Given the description of an element on the screen output the (x, y) to click on. 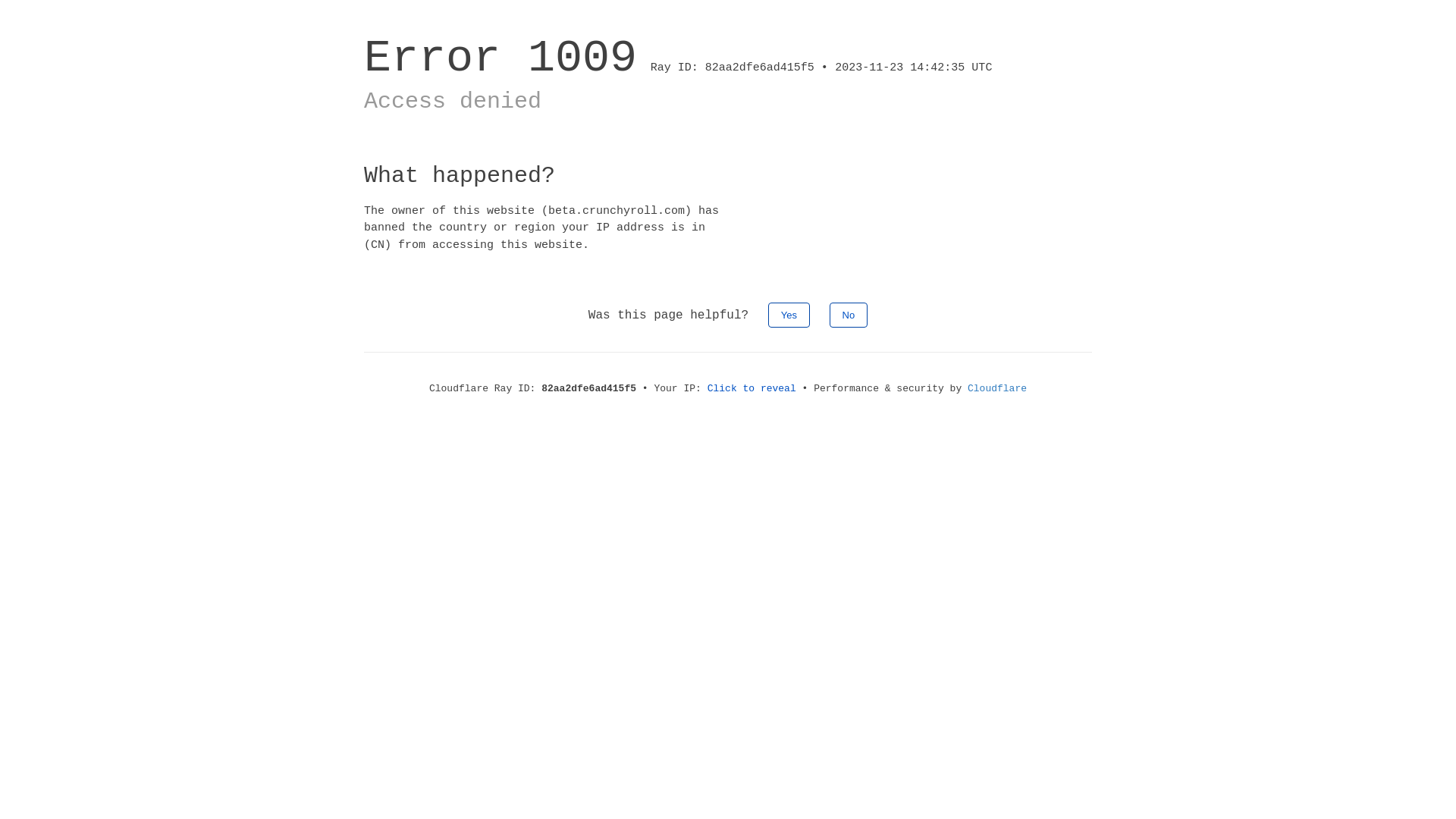
Cloudflare Element type: text (996, 388)
Yes Element type: text (788, 314)
No Element type: text (848, 314)
Click to reveal Element type: text (751, 388)
